Given the description of an element on the screen output the (x, y) to click on. 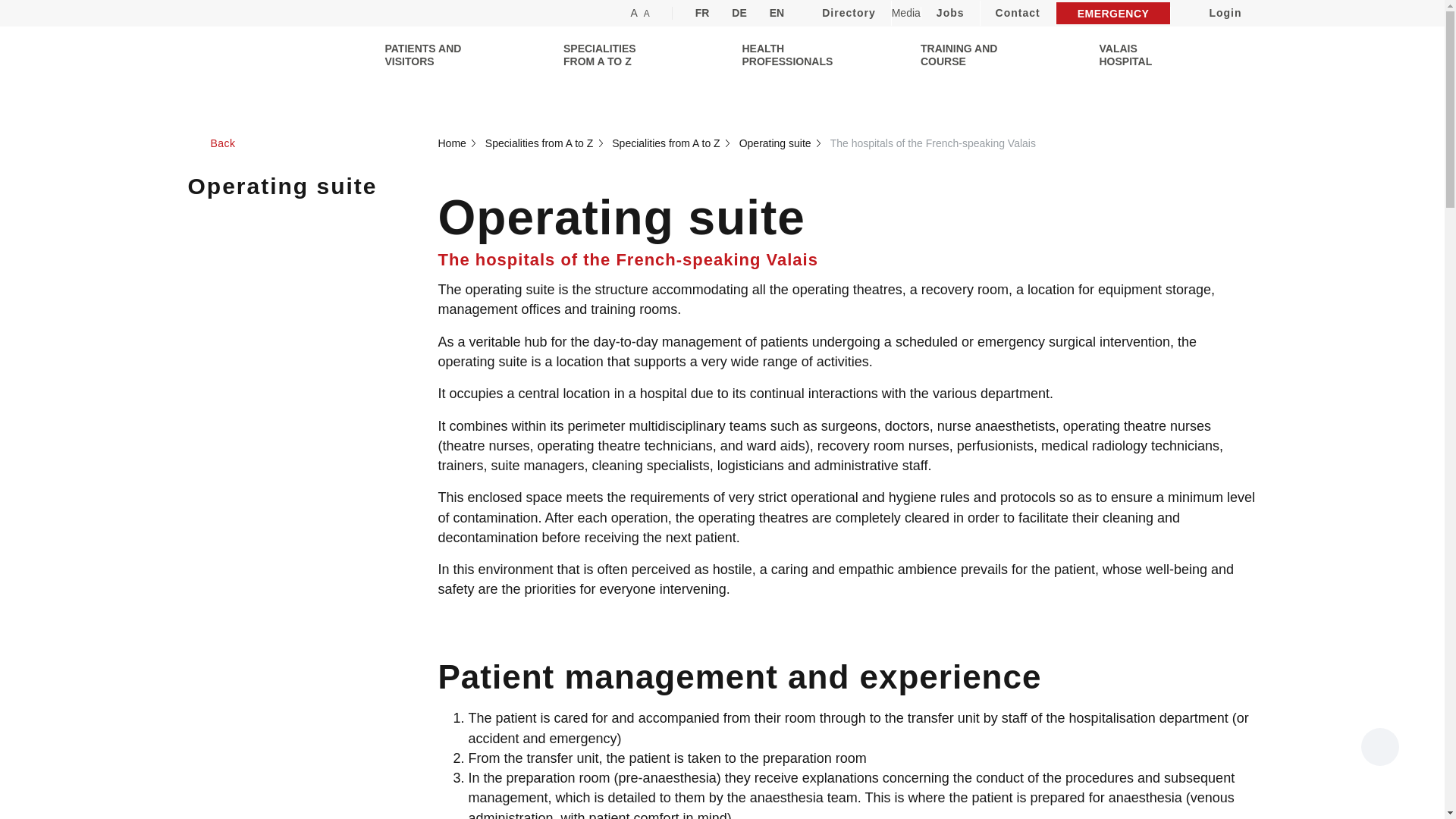
Jobs (950, 12)
Valais Hospital (1145, 54)
Login (1213, 13)
FR (702, 13)
EMERGENCY (1113, 13)
VALAIS HOSPITAL (1145, 54)
Directory (847, 12)
Directory (847, 12)
Patients and visitors (430, 54)
Jobs (950, 12)
